Given the description of an element on the screen output the (x, y) to click on. 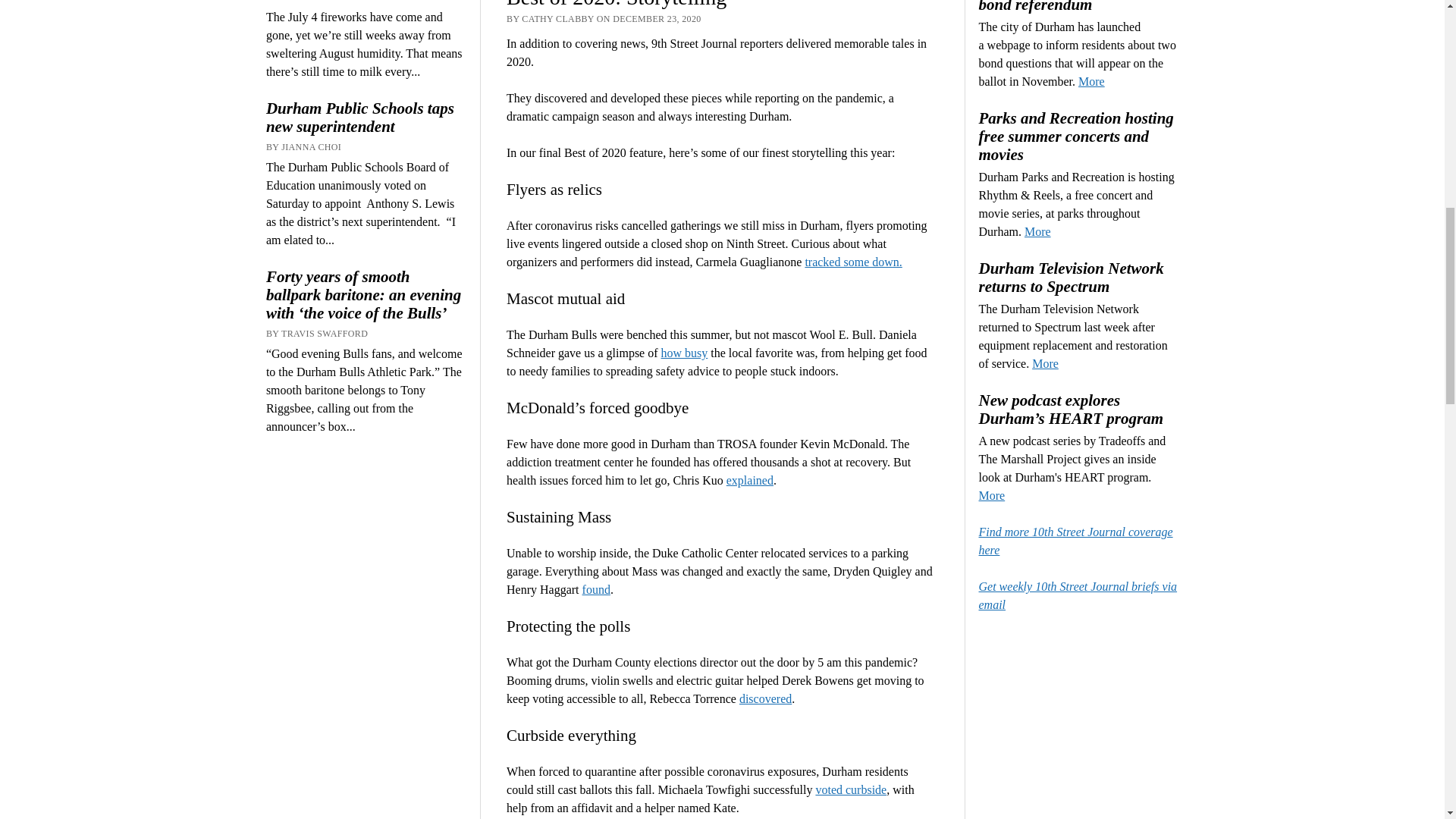
explained (749, 480)
voted curbside (850, 789)
Durham Public Schools taps new superintendent (365, 117)
discovered (765, 698)
found (596, 589)
tracked some down. (853, 261)
how busy (684, 352)
